Given the description of an element on the screen output the (x, y) to click on. 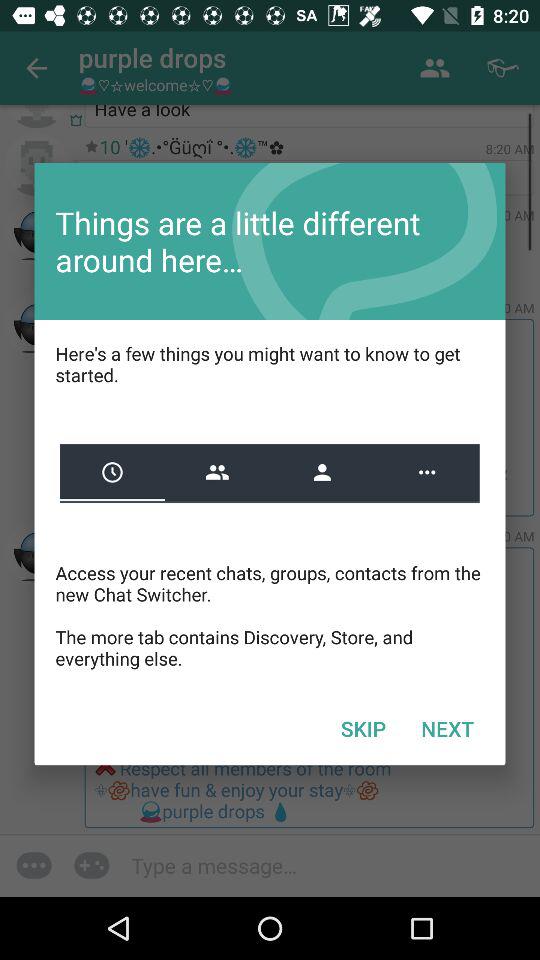
flip until the skip icon (363, 728)
